Given the description of an element on the screen output the (x, y) to click on. 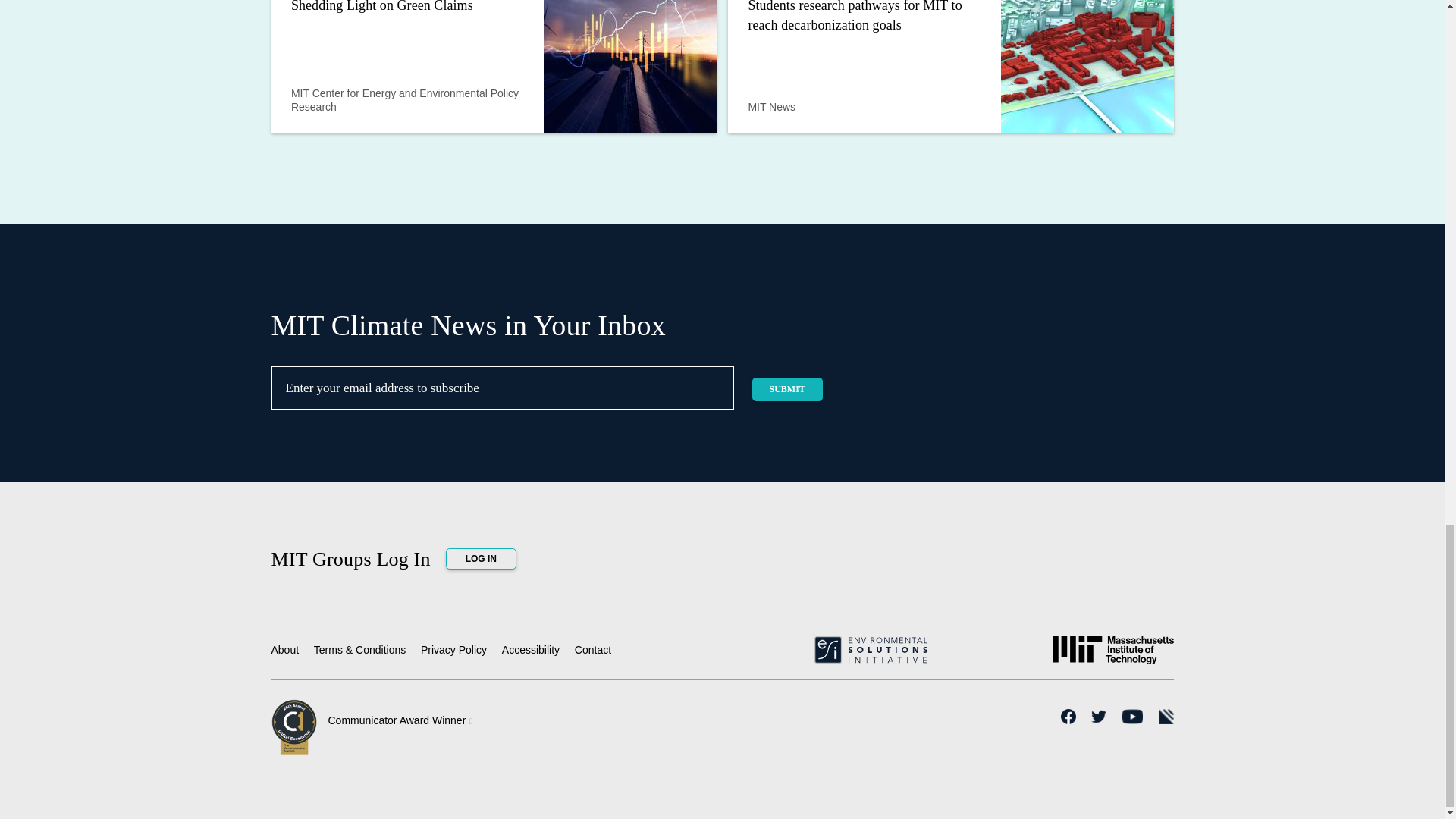
MIT Website (1112, 656)
Submit (787, 389)
ESI Website (869, 655)
